Given the description of an element on the screen output the (x, y) to click on. 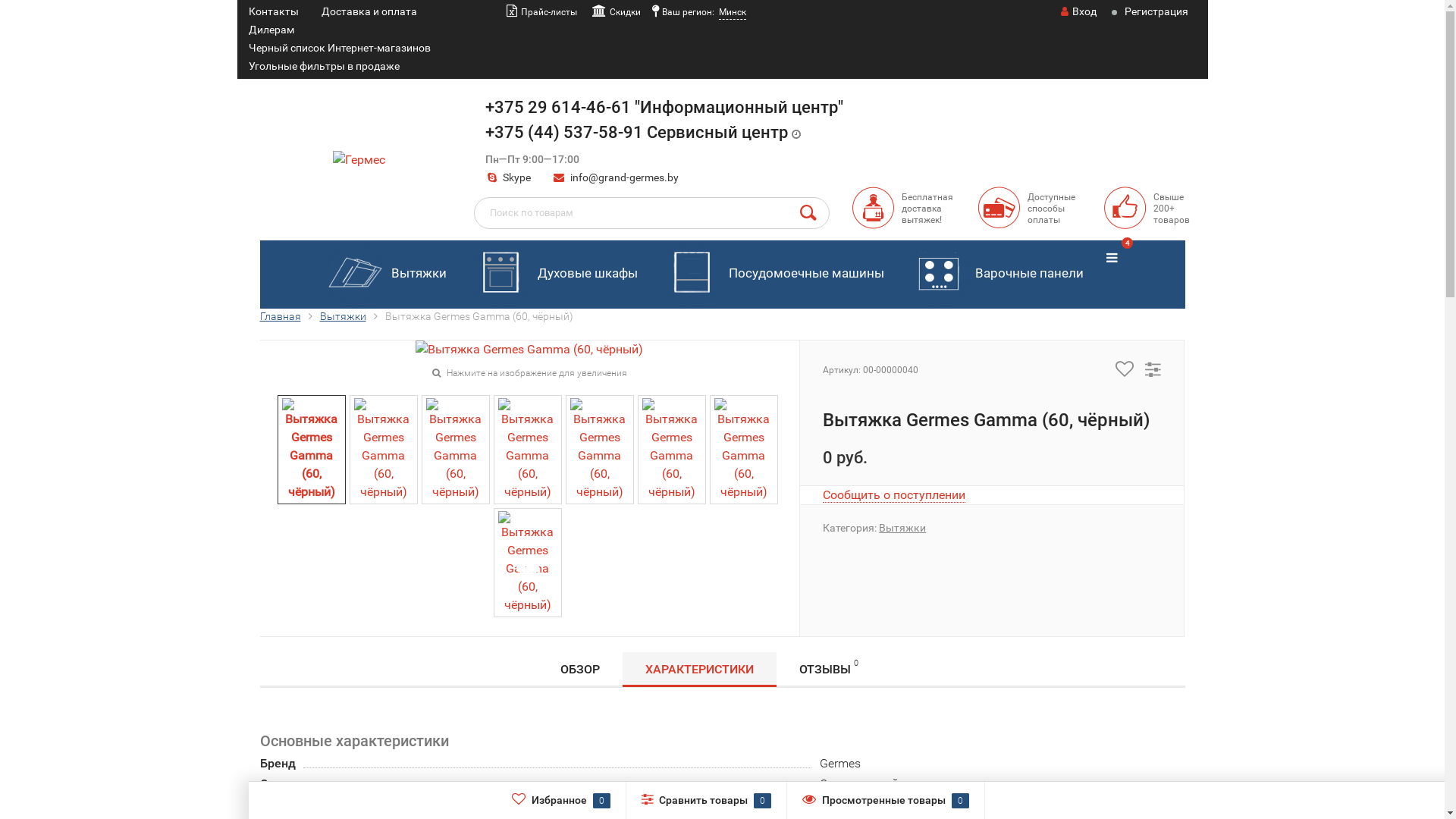
4 Element type: text (1112, 258)
Skype Element type: text (507, 177)
info@grand-germes.by Element type: text (624, 177)
